Given the description of an element on the screen output the (x, y) to click on. 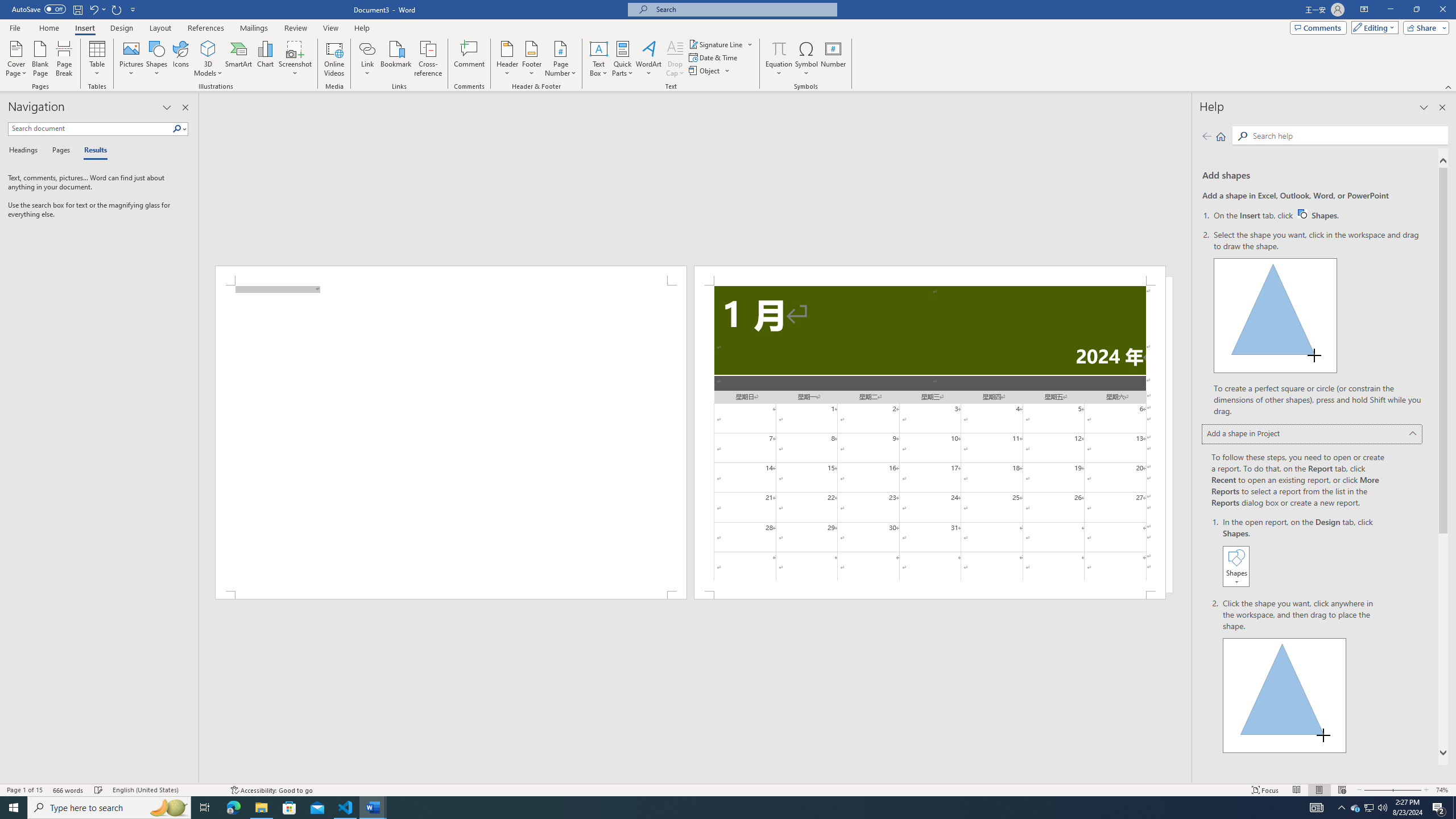
Page 2 content (930, 438)
Symbol (806, 58)
WordArt (648, 58)
Pictures (131, 58)
